Given the description of an element on the screen output the (x, y) to click on. 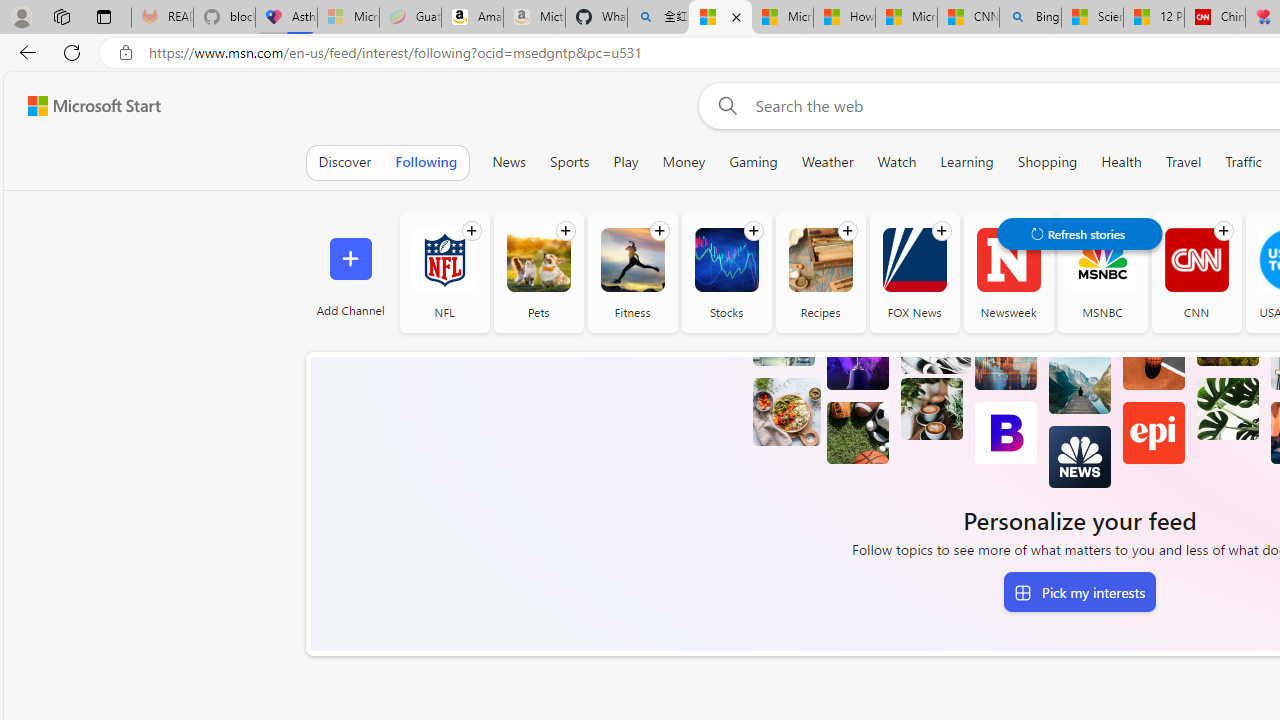
MSNBC (1102, 260)
Following (425, 161)
Skip to content (86, 105)
Weather (827, 161)
Following (425, 162)
Travel (1183, 161)
NFL (444, 272)
Discover (344, 162)
MSNBC (1102, 272)
Watch (897, 162)
Microsoft Start (94, 105)
Skip to footer (82, 105)
